Given the description of an element on the screen output the (x, y) to click on. 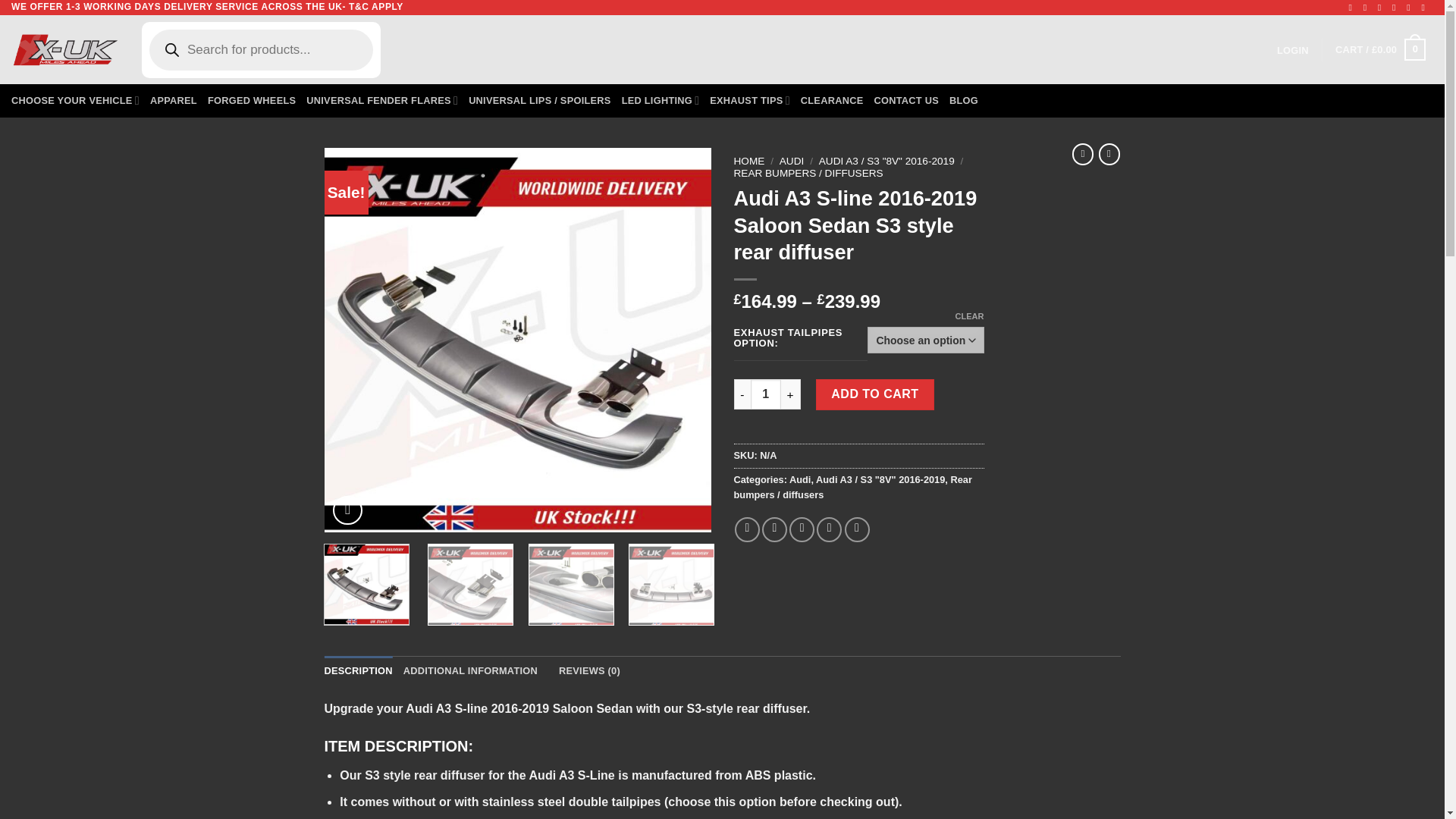
Cart (1379, 49)
FORGED WHEELS (251, 100)
APPAREL (172, 100)
EXHAUST TIPS (750, 100)
LOGIN (1292, 50)
UNIVERSAL FENDER FLARES (381, 100)
LED LIGHTING (660, 100)
Xenonz UK (65, 49)
CHOOSE YOUR VEHICLE (75, 100)
1 (765, 394)
